Given the description of an element on the screen output the (x, y) to click on. 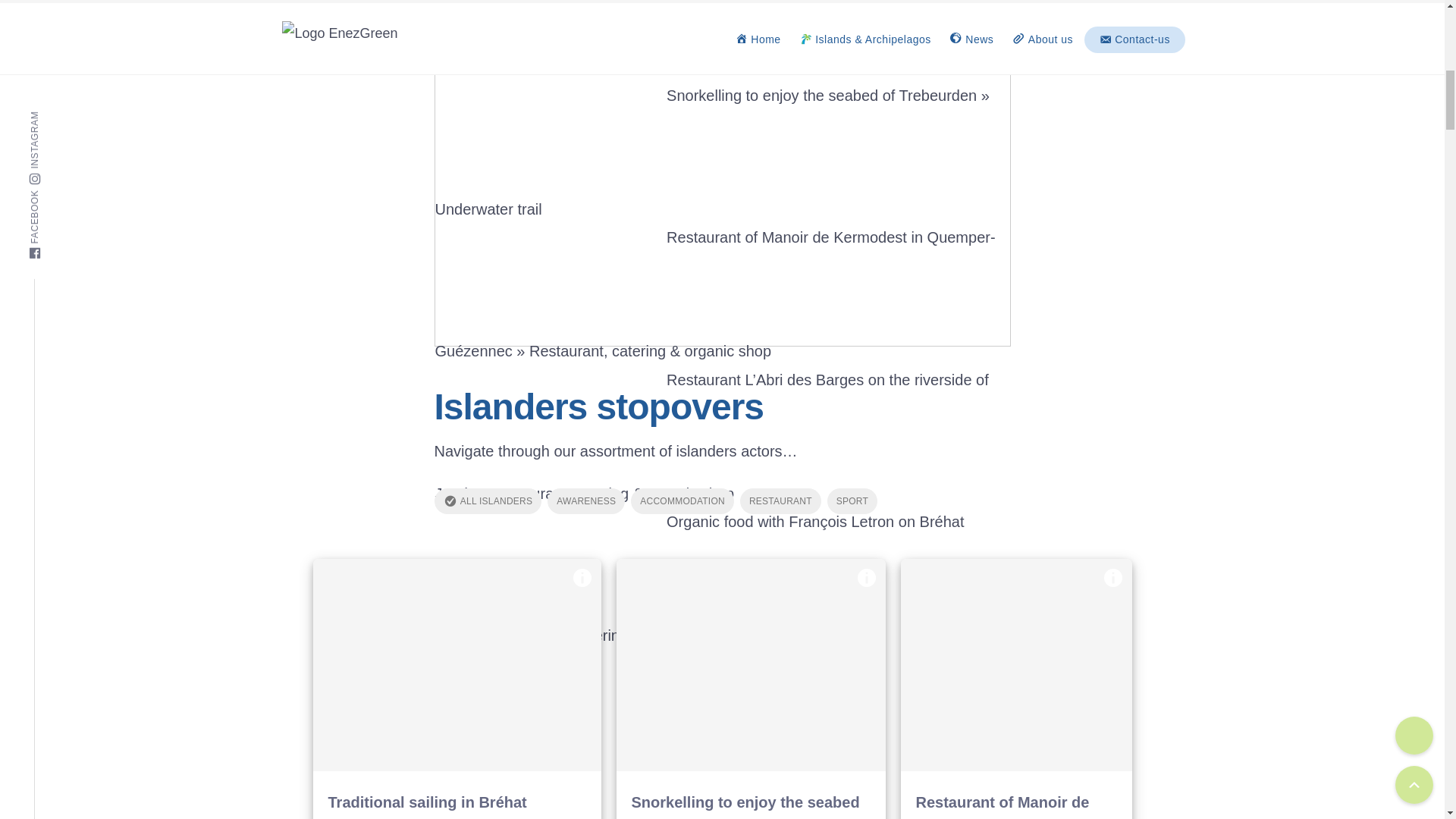
Snorkelling to enjoy the seabed of Trebeurden (750, 664)
SPORT (852, 501)
AWARENESS (585, 501)
ALL ISLANDERS (487, 501)
RESTAURANT (780, 501)
ACCOMMODATION (681, 501)
